Given the description of an element on the screen output the (x, y) to click on. 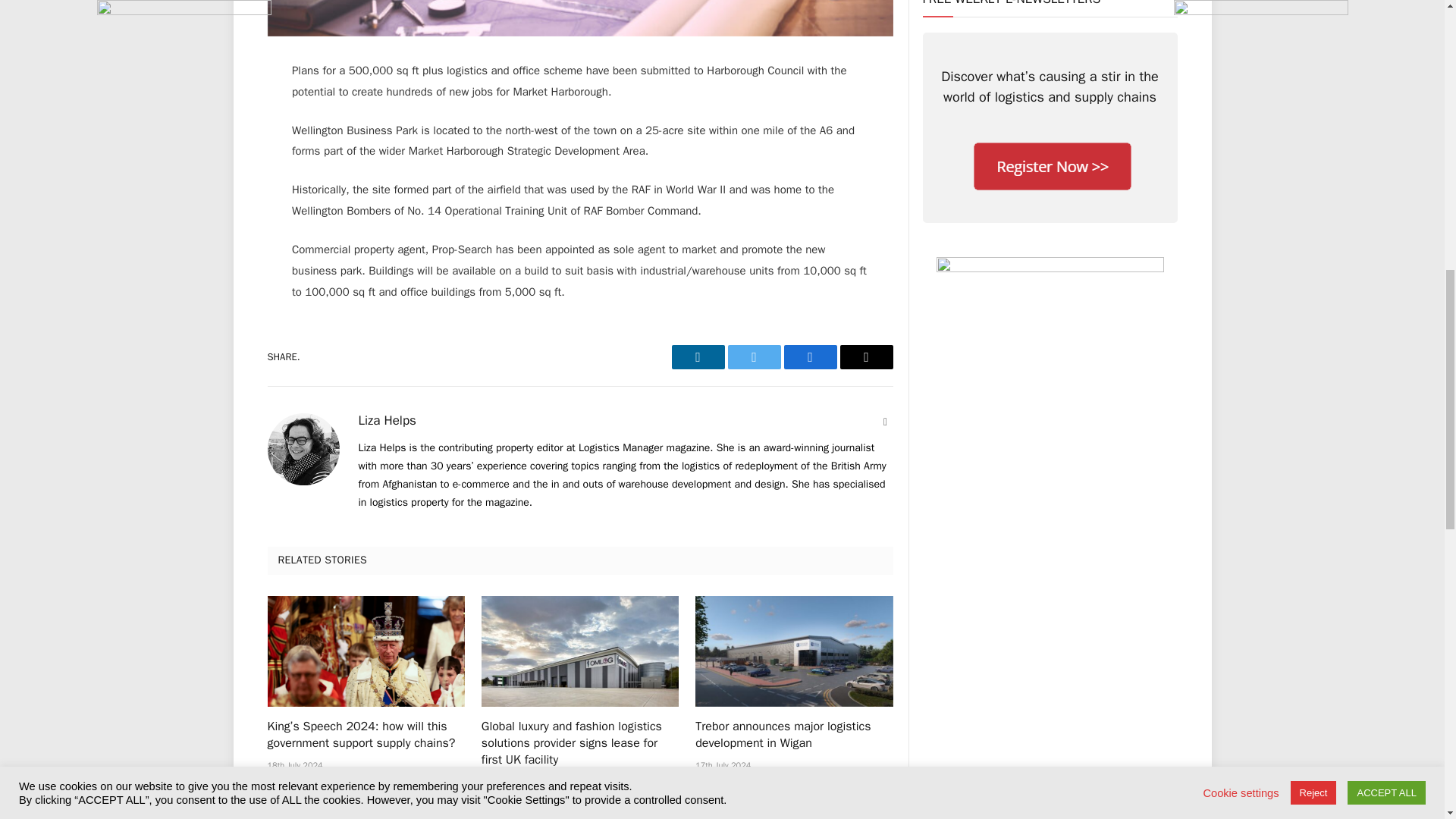
Share on LinkedIn (698, 356)
